Given the description of an element on the screen output the (x, y) to click on. 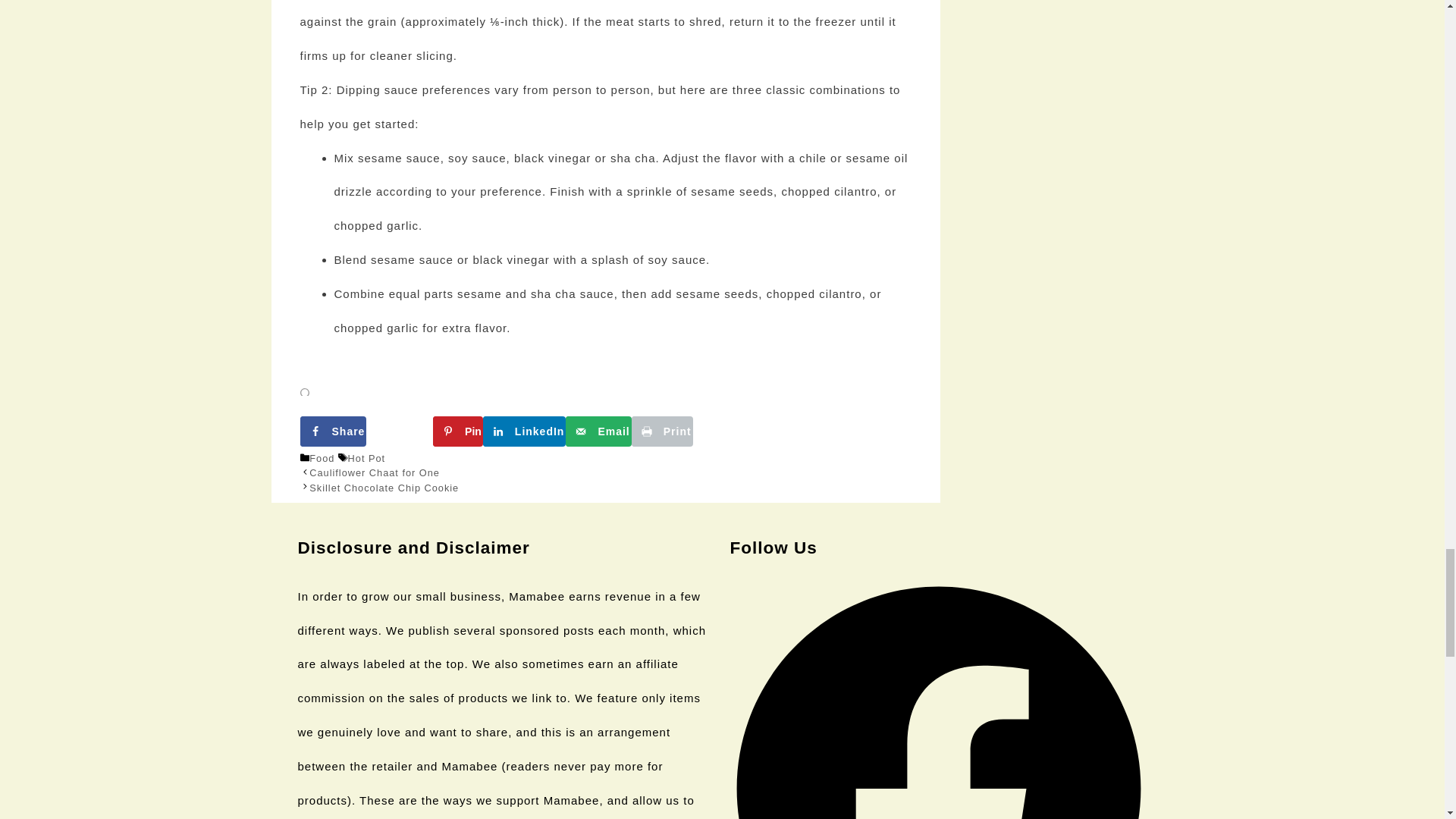
Share on X (399, 431)
Print this webpage (662, 431)
Share on LinkedIn (524, 431)
Send over email (598, 431)
Share on Facebook (332, 431)
Save to Pinterest (457, 431)
